Given the description of an element on the screen output the (x, y) to click on. 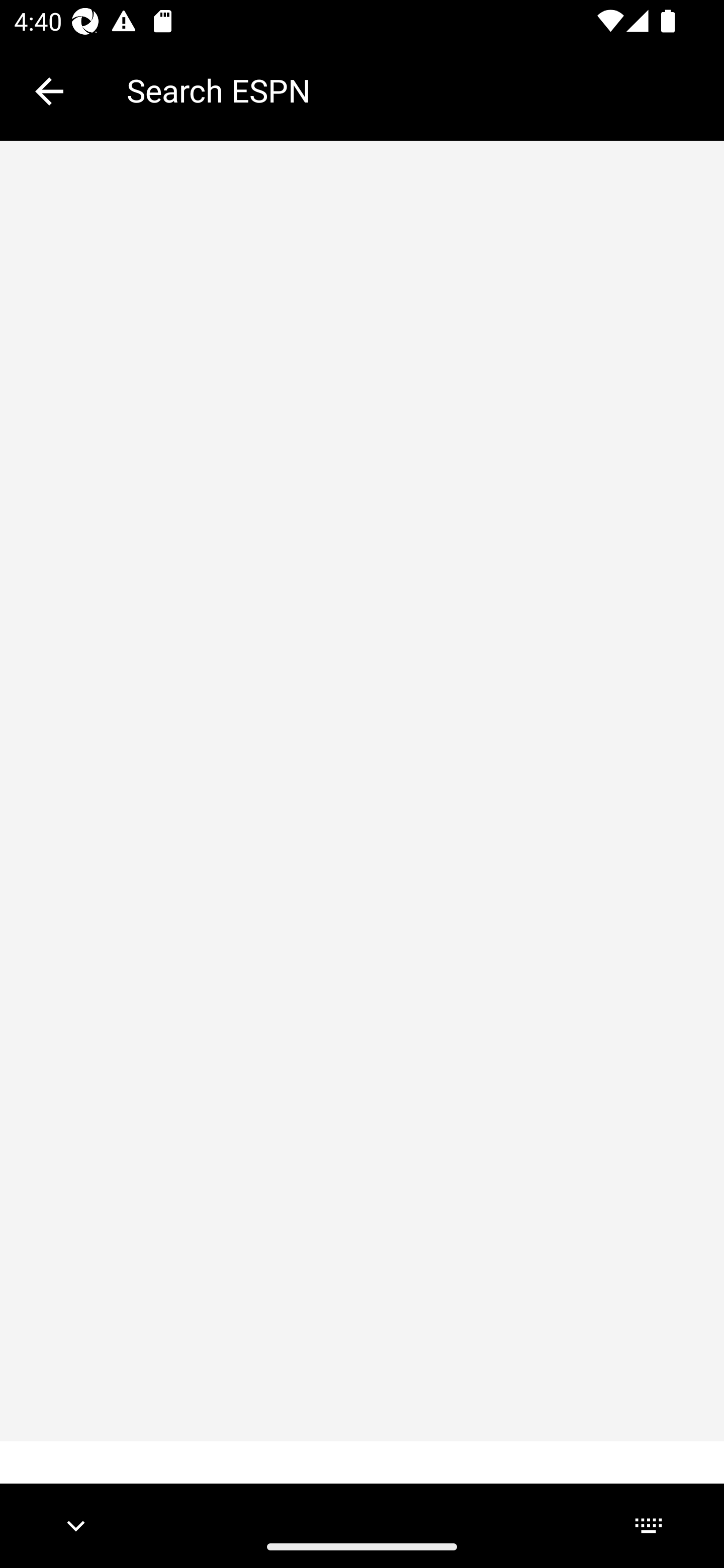
Collapse (49, 91)
Search ESPN (411, 90)
